Given the description of an element on the screen output the (x, y) to click on. 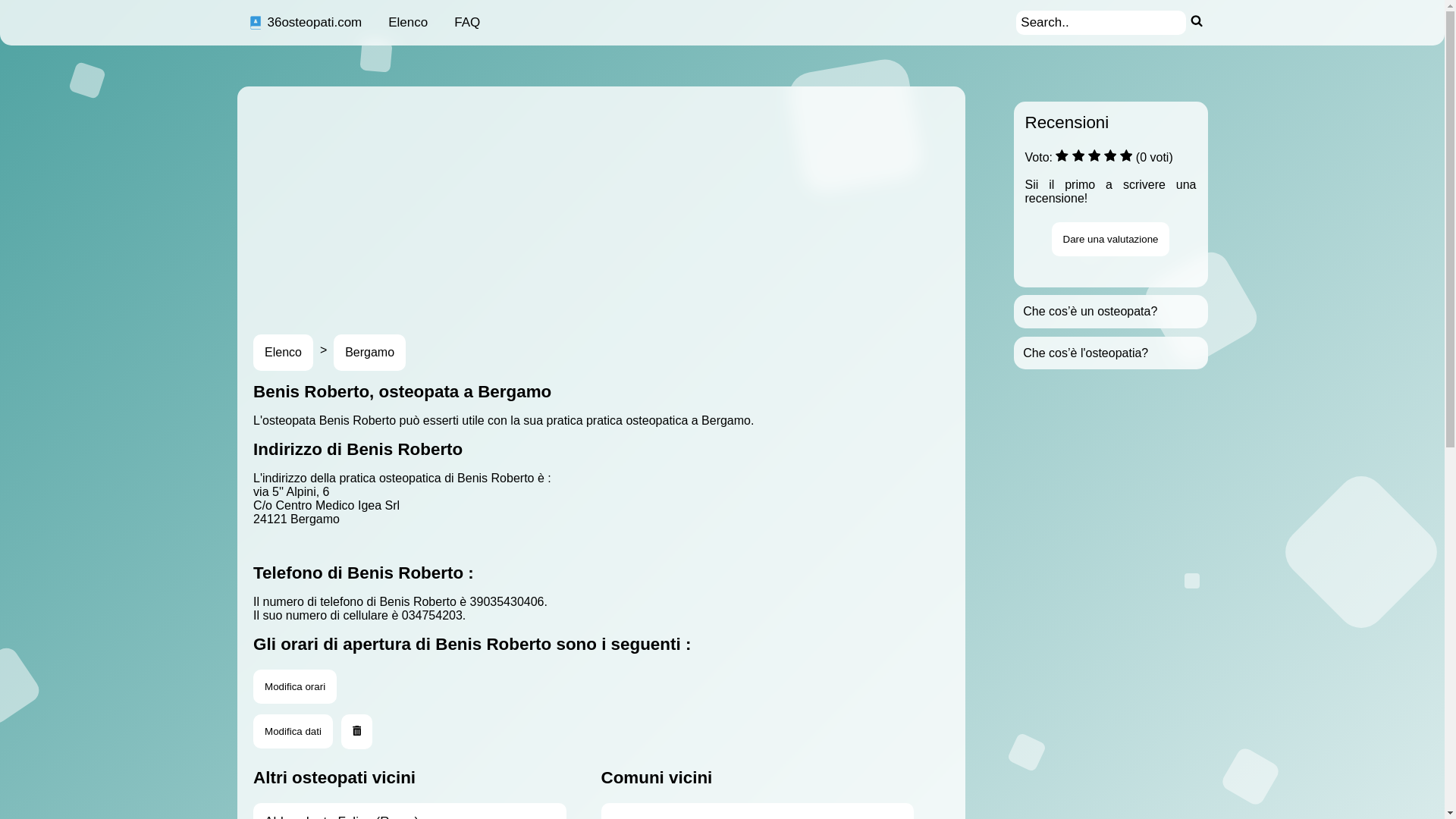
Dare una valutazione Element type: text (1110, 239)
Bergamo Element type: text (369, 352)
Modifica orari Element type: text (294, 686)
Advertisement Element type: hover (691, 200)
034754203 Element type: text (431, 614)
39035430406 Element type: text (507, 601)
Modifica dati Element type: text (292, 731)
Elenco Element type: text (283, 352)
FAQ Element type: text (466, 22)
Elenco Element type: text (407, 22)
36osteopati.com Element type: text (304, 22)
